Given the description of an element on the screen output the (x, y) to click on. 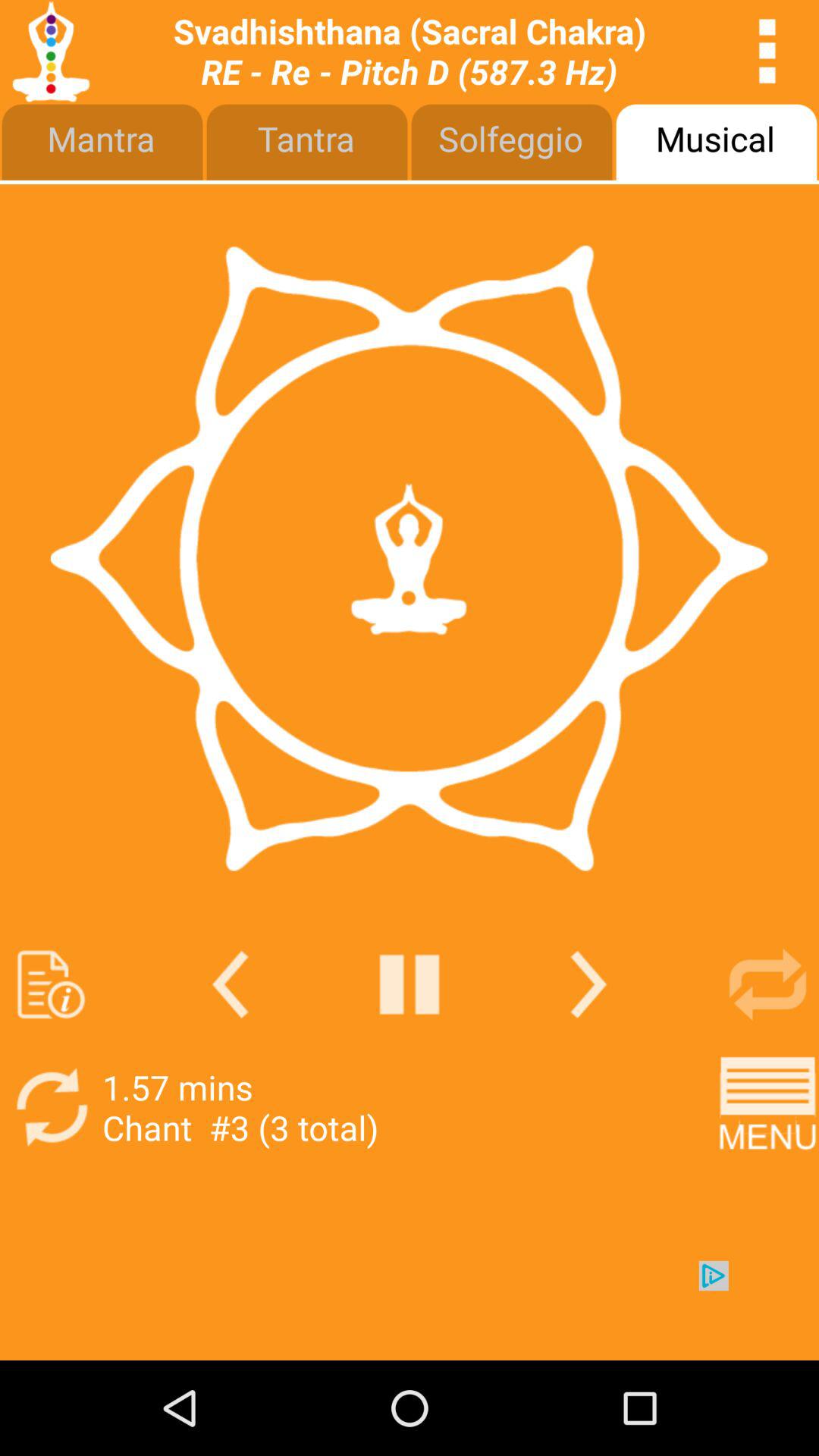
this button is for more options (767, 51)
